Given the description of an element on the screen output the (x, y) to click on. 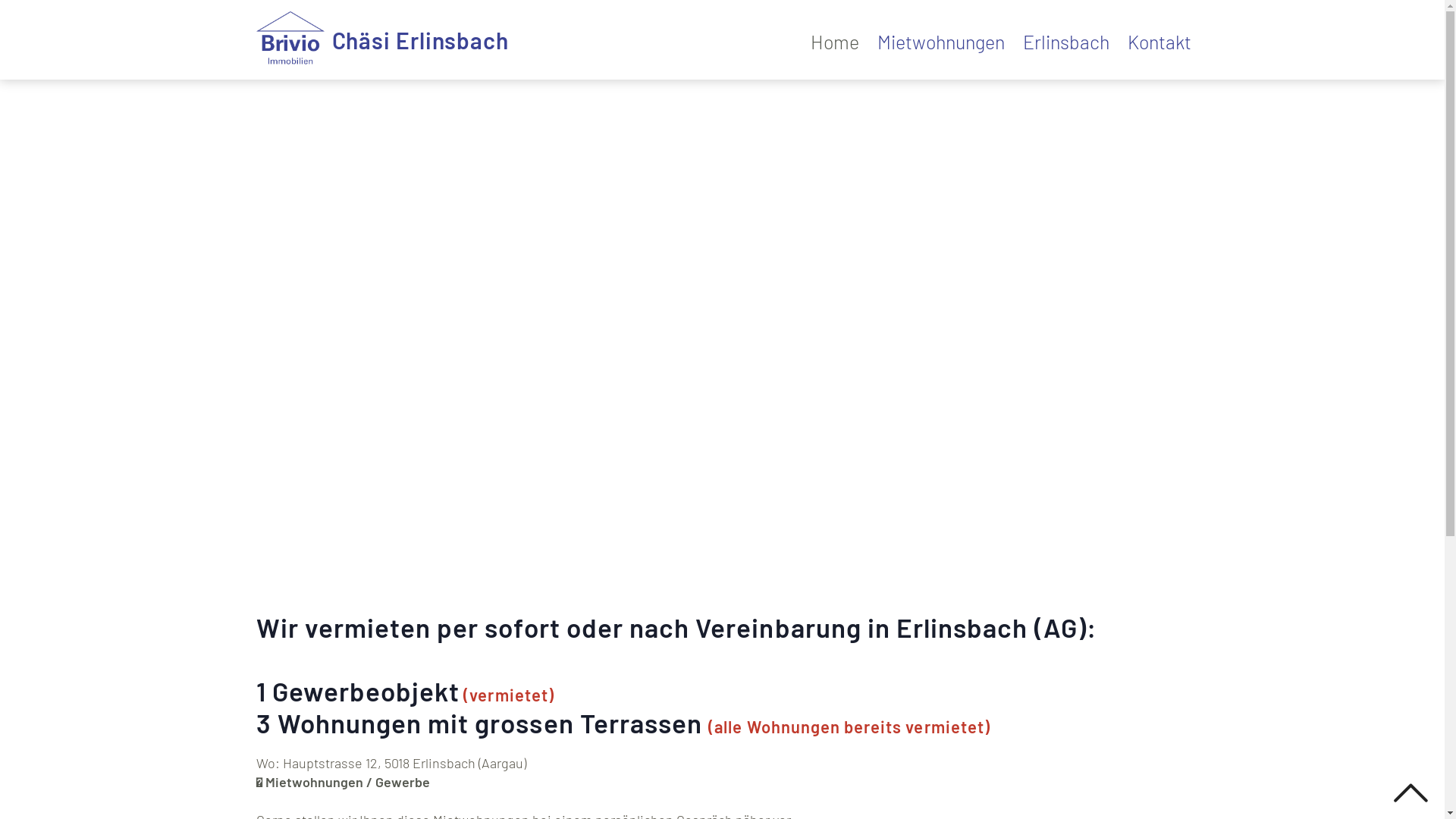
Kontakt Element type: text (1158, 41)
Home Element type: text (833, 41)
Erlinsbach Element type: text (1065, 41)
Mietwohnungen Element type: text (940, 41)
